Given the description of an element on the screen output the (x, y) to click on. 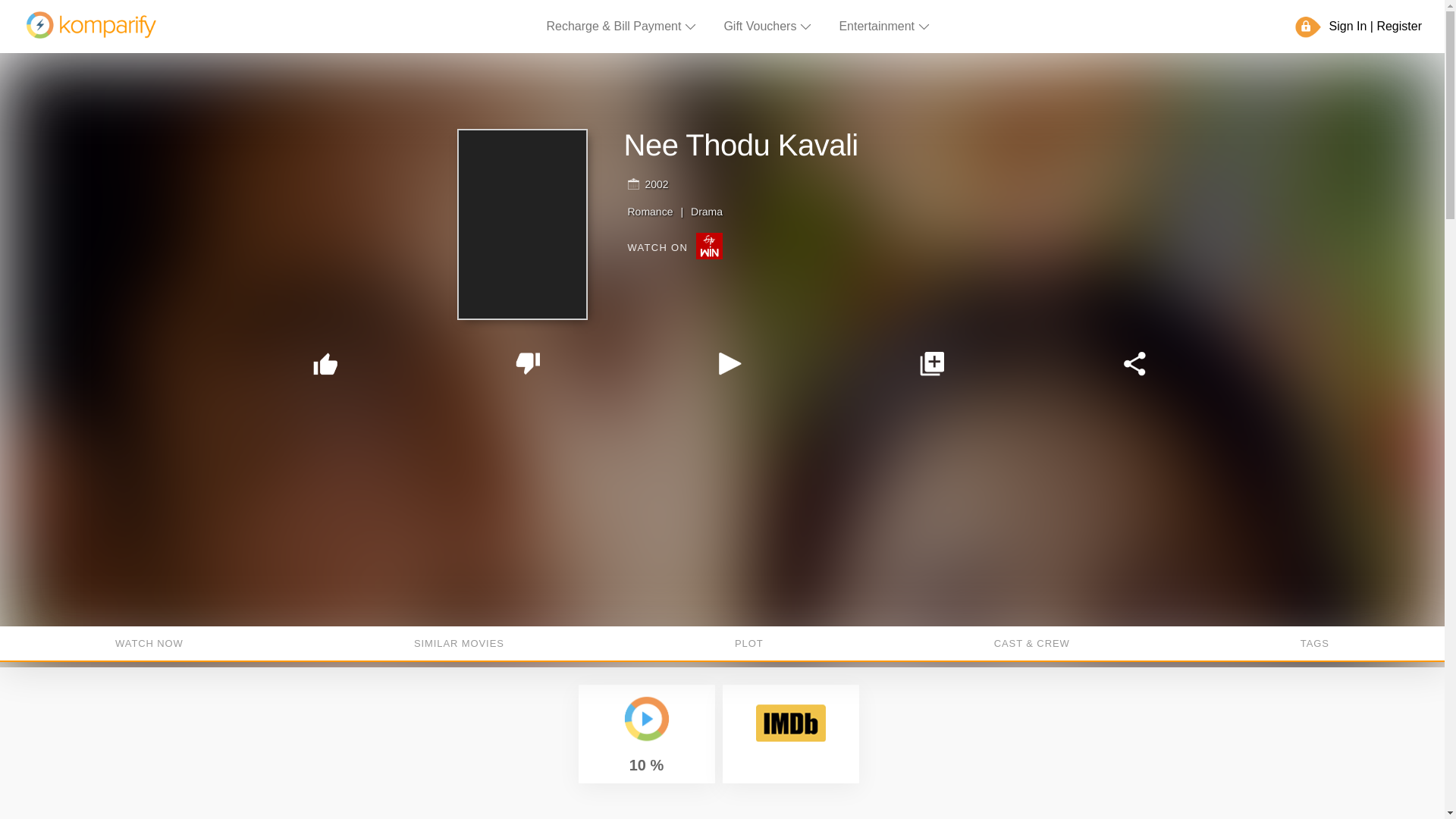
Entertainment (884, 26)
Register (1398, 25)
Gift Vouchers (766, 26)
Sign In (1348, 25)
